Given the description of an element on the screen output the (x, y) to click on. 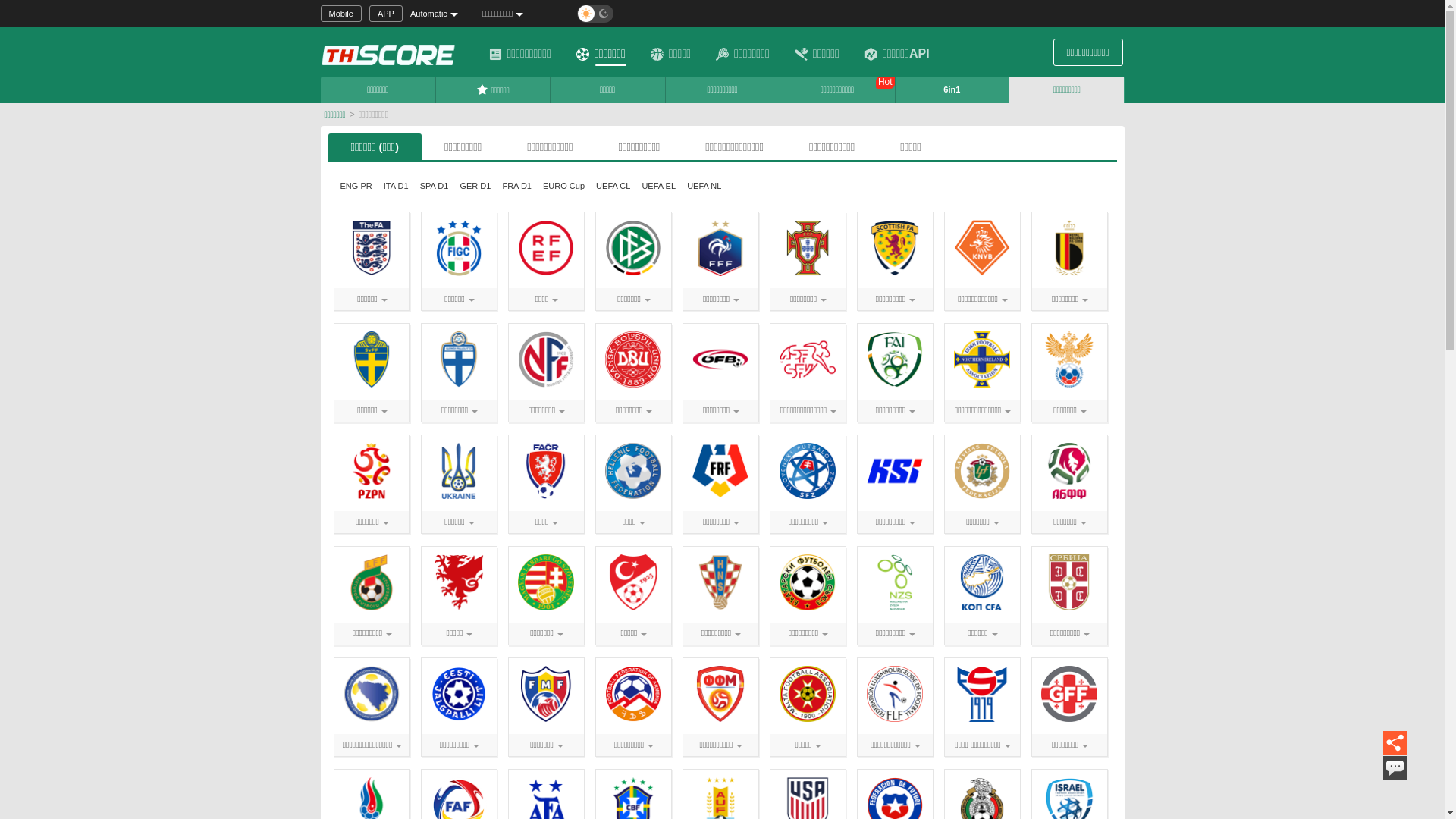
6in1 Element type: text (952, 89)
ITA D1 Element type: text (396, 185)
Automatic Element type: text (440, 13)
on Element type: text (4, 4)
APP Element type: text (385, 13)
Mobile Element type: text (340, 13)
UEFA EL Element type: text (658, 185)
UEFA NL Element type: text (703, 185)
GER D1 Element type: text (475, 185)
UEFA CL Element type: text (612, 185)
ENG PR Element type: text (355, 185)
SPA D1 Element type: text (434, 185)
FRA D1 Element type: text (516, 185)
EURO Cup Element type: text (563, 185)
